Given the description of an element on the screen output the (x, y) to click on. 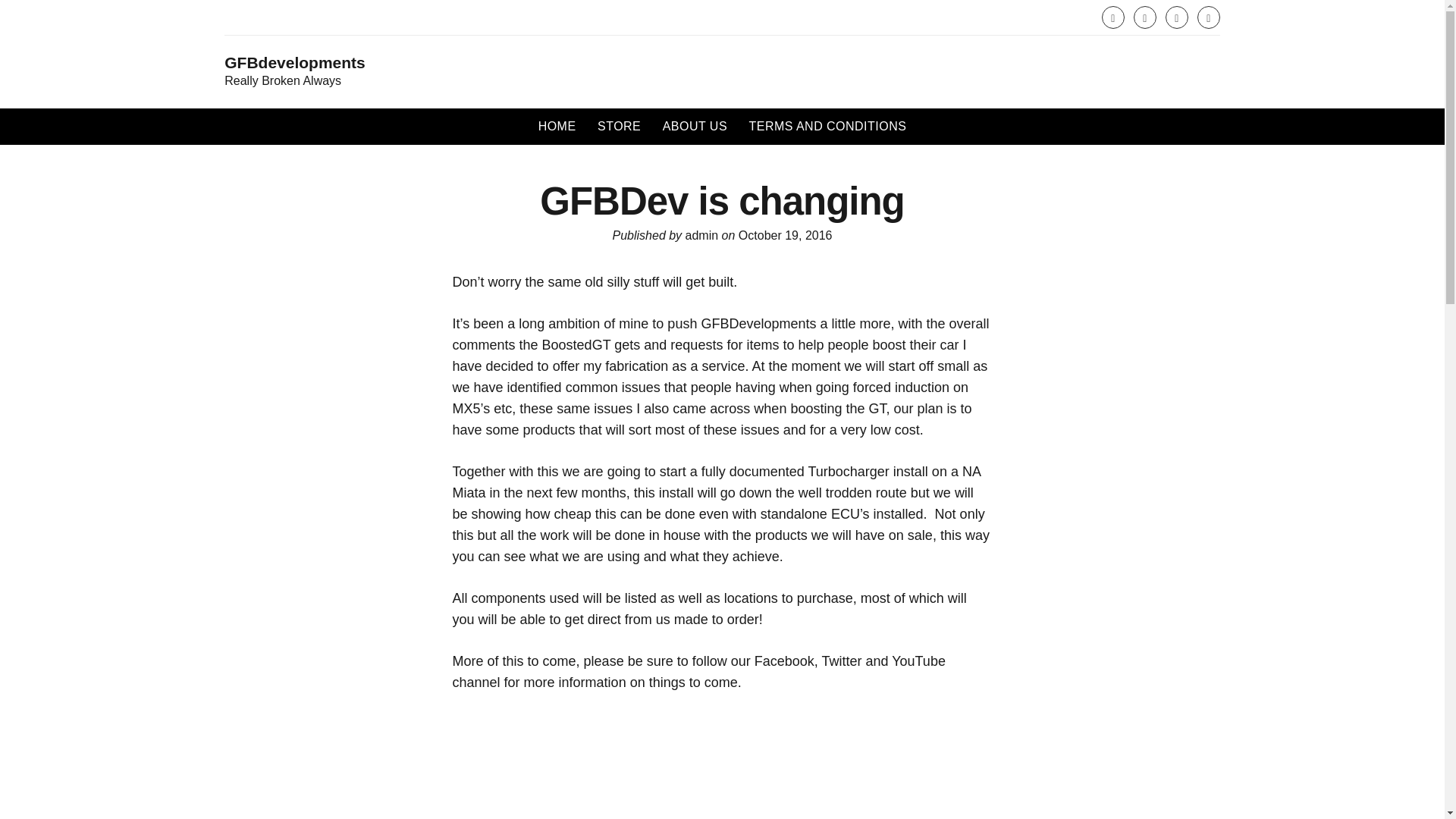
phone (1208, 16)
HOME (557, 126)
STORE (618, 126)
Supercharged Miata Powered MGB GT vs MX5 (722, 766)
GFBdevelopments (294, 63)
TERMS AND CONDITIONS (827, 126)
ABOUT US (694, 126)
